Given the description of an element on the screen output the (x, y) to click on. 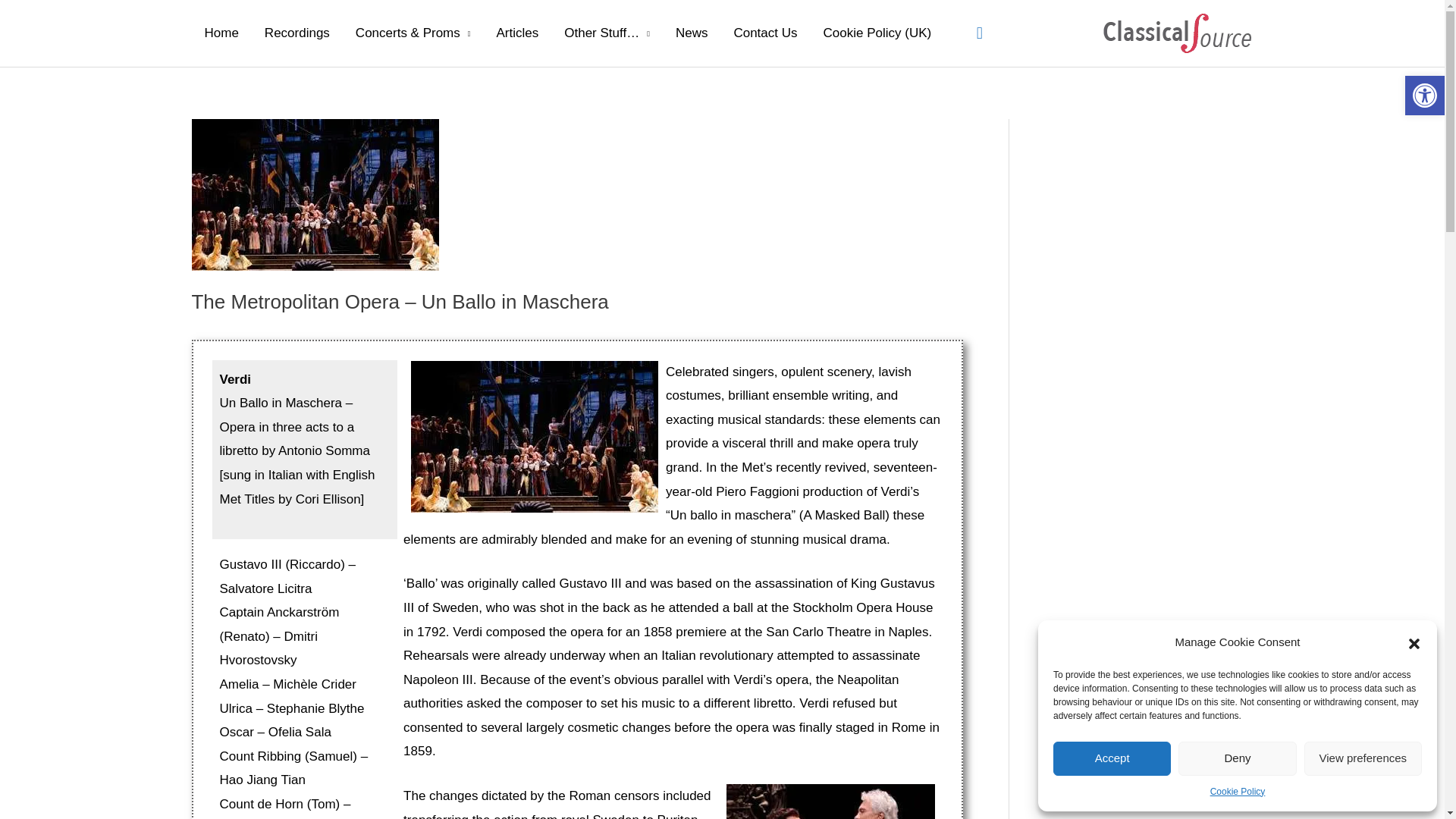
Cookie Policy (1237, 791)
Accept (1111, 758)
Articles (517, 33)
Home (220, 33)
Accessibility Tools (1424, 95)
View preferences (1363, 758)
Deny (1236, 758)
Recordings (296, 33)
